Given the description of an element on the screen output the (x, y) to click on. 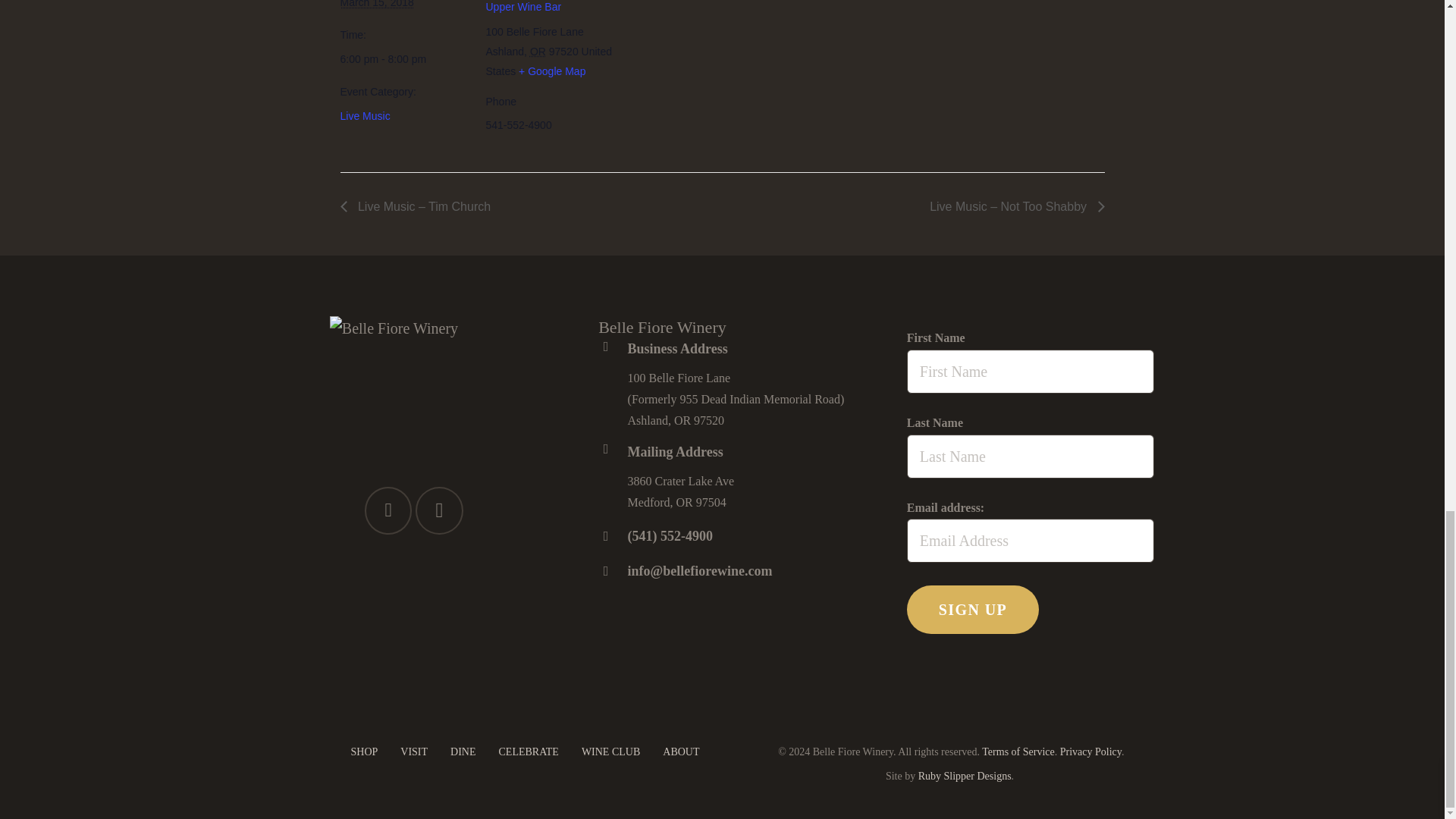
Oregon (537, 51)
Live Music (364, 115)
2018-03-15 (403, 58)
Sign up (973, 609)
Facebook (388, 510)
2018-03-15 (376, 4)
Instagram (438, 510)
Click to view a Google Map (551, 70)
